Given the description of an element on the screen output the (x, y) to click on. 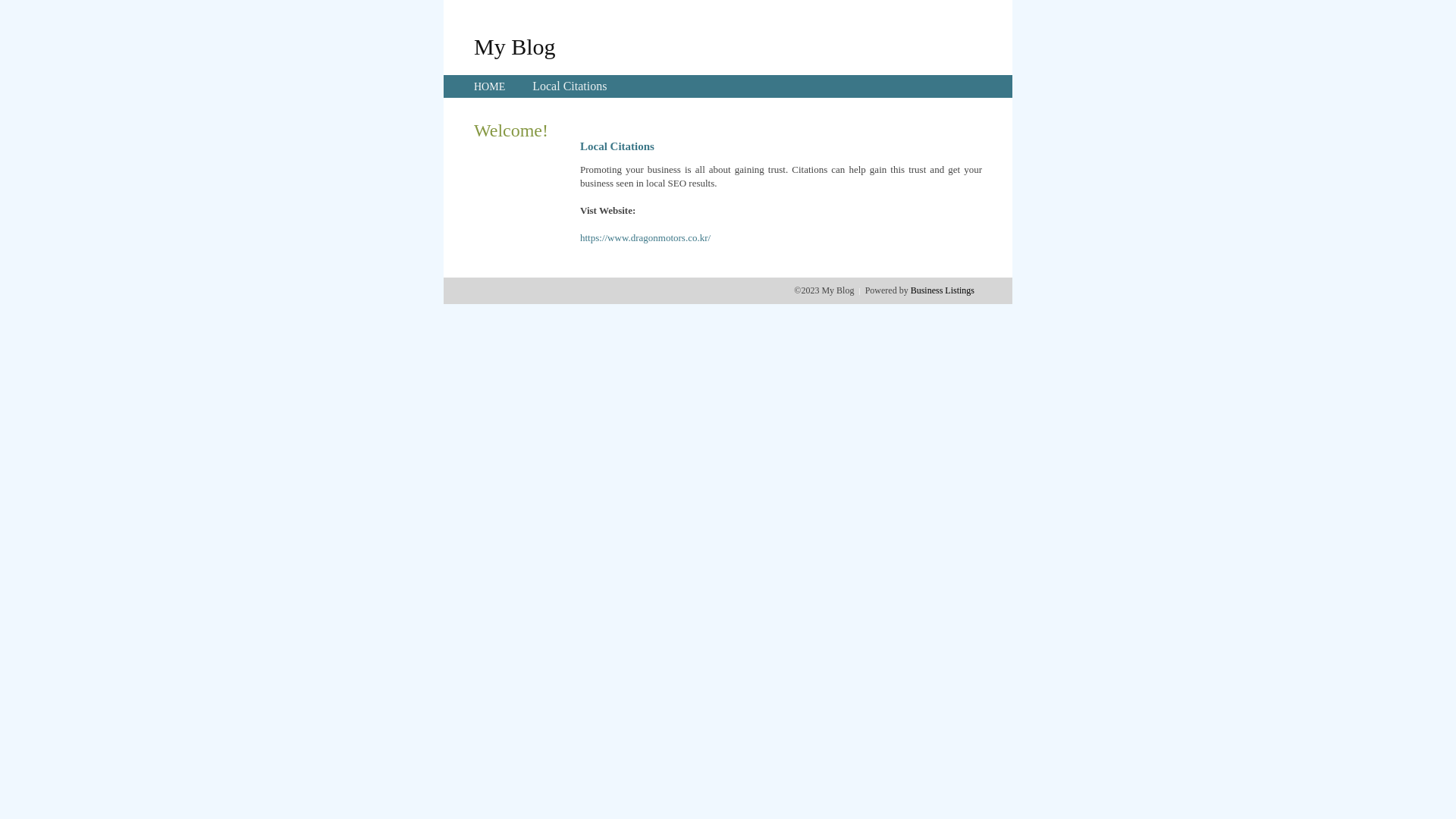
Business Listings Element type: text (942, 290)
https://www.dragonmotors.co.kr/ Element type: text (645, 237)
My Blog Element type: text (514, 46)
Local Citations Element type: text (569, 85)
HOME Element type: text (489, 86)
